Given the description of an element on the screen output the (x, y) to click on. 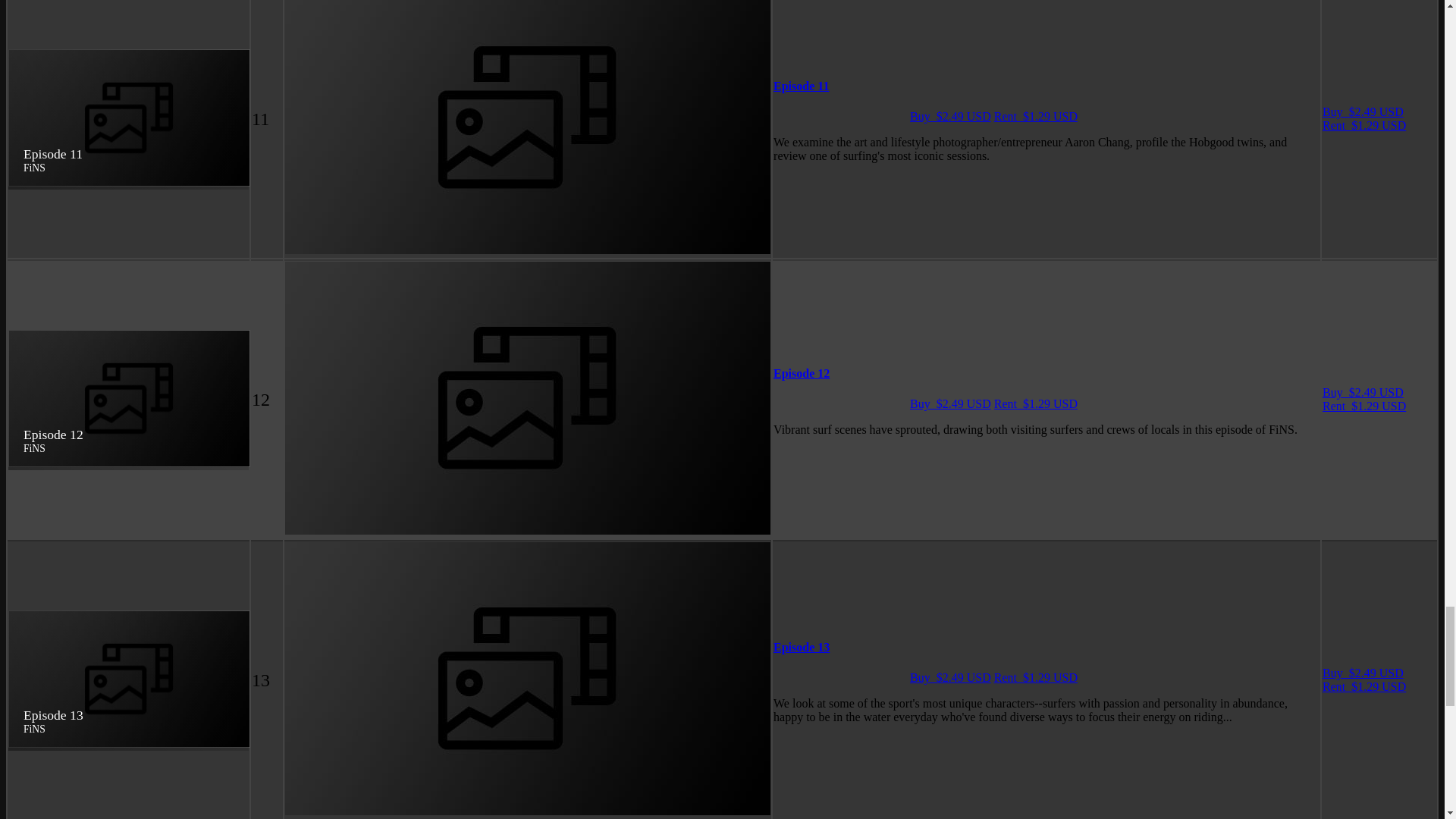
Episode  11 (800, 85)
Episode  12 (801, 373)
Episode  13 (801, 646)
